Given the description of an element on the screen output the (x, y) to click on. 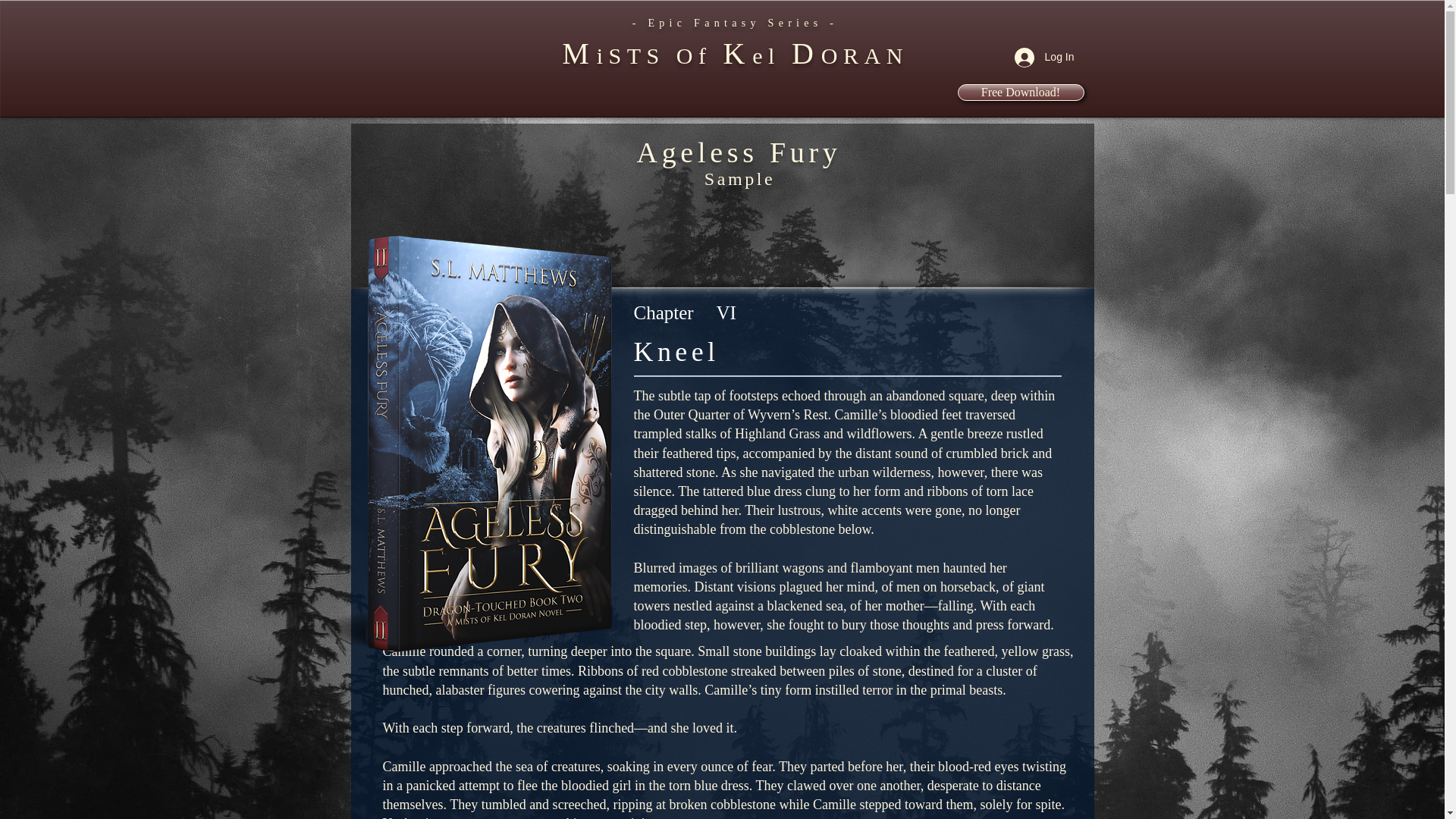
K (737, 53)
ORAN (864, 55)
M (579, 53)
D (806, 53)
Ageless Fury (450, 443)
iSTS Of (659, 55)
Log In (1044, 56)
Free Download! (1019, 92)
el  (772, 55)
